Given the description of an element on the screen output the (x, y) to click on. 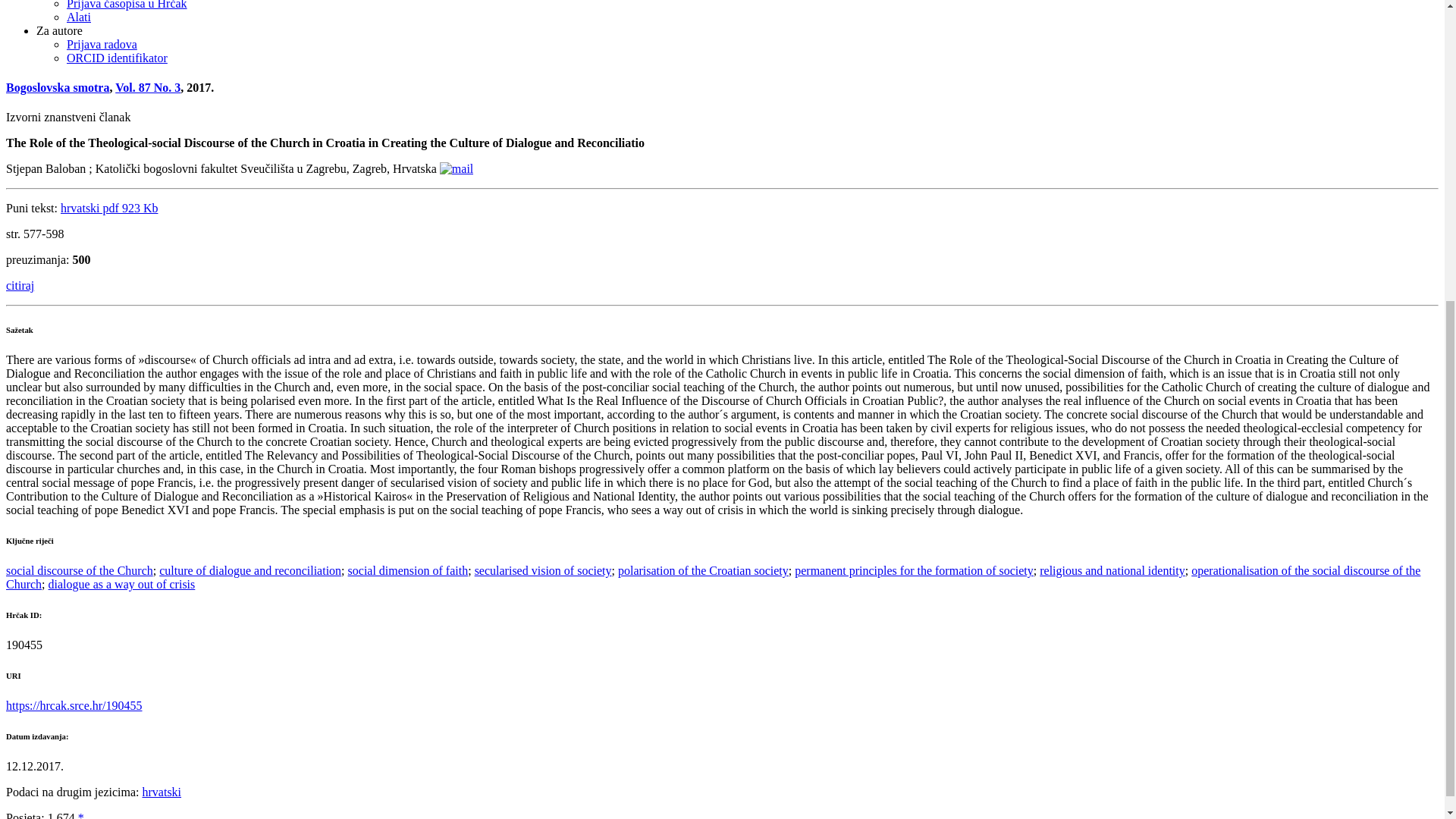
social dimension of faith (407, 570)
hrvatski pdf 923 Kb (109, 207)
Bogoslovska smotra (57, 87)
social discourse of the Church (78, 570)
culture of dialogue and reconciliation (249, 570)
mail (456, 169)
citiraj (19, 285)
Prijava radova (101, 43)
Vol. 87 No. 3 (147, 87)
Alati (78, 16)
